Given the description of an element on the screen output the (x, y) to click on. 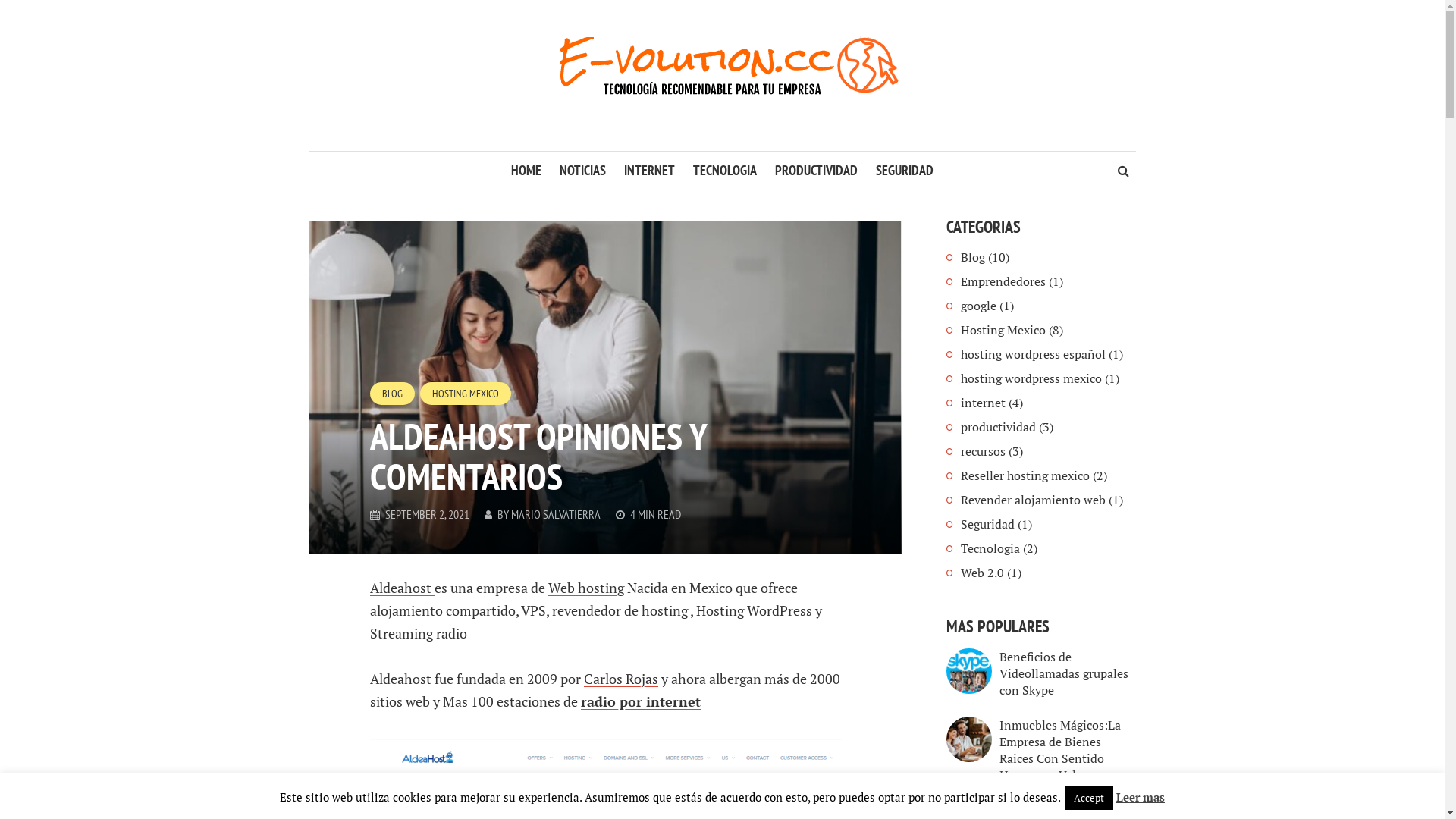
google Element type: text (977, 305)
Beneficios de Videollamadas grupales con Skype Element type: text (1063, 672)
Revender alojamiento web Element type: text (1032, 499)
Seguridad Element type: text (986, 523)
Accept Element type: text (1088, 797)
hosting wordpress mexico Element type: text (1030, 378)
MARIO SALVATIERRA Element type: text (555, 513)
Leer mas Element type: text (1140, 796)
NOTICIAS Element type: text (582, 170)
arlo Element type: text (604, 678)
BLOG Element type: text (392, 393)
Web 2.0 Element type: text (981, 572)
Web hosting Element type: text (585, 587)
internet Element type: text (982, 402)
HOME Element type: text (526, 170)
Aldeahost Element type: text (402, 587)
s Rojas Element type: text (636, 678)
SEGURIDAD Element type: text (904, 170)
Hosting Mexico Element type: text (1002, 329)
TECNOLOGIA Element type: text (724, 170)
recursos Element type: text (982, 450)
Blog Element type: text (972, 256)
Tecnologia Element type: text (989, 547)
HOSTING MEXICO Element type: text (465, 393)
productividad Element type: text (997, 426)
PRODUCTIVIDAD Element type: text (816, 170)
C Element type: text (588, 678)
radio por internet Element type: text (640, 701)
Emprendedores Element type: text (1002, 281)
Reseller hosting mexico Element type: text (1024, 475)
INTERNET Element type: text (649, 170)
